Given the description of an element on the screen output the (x, y) to click on. 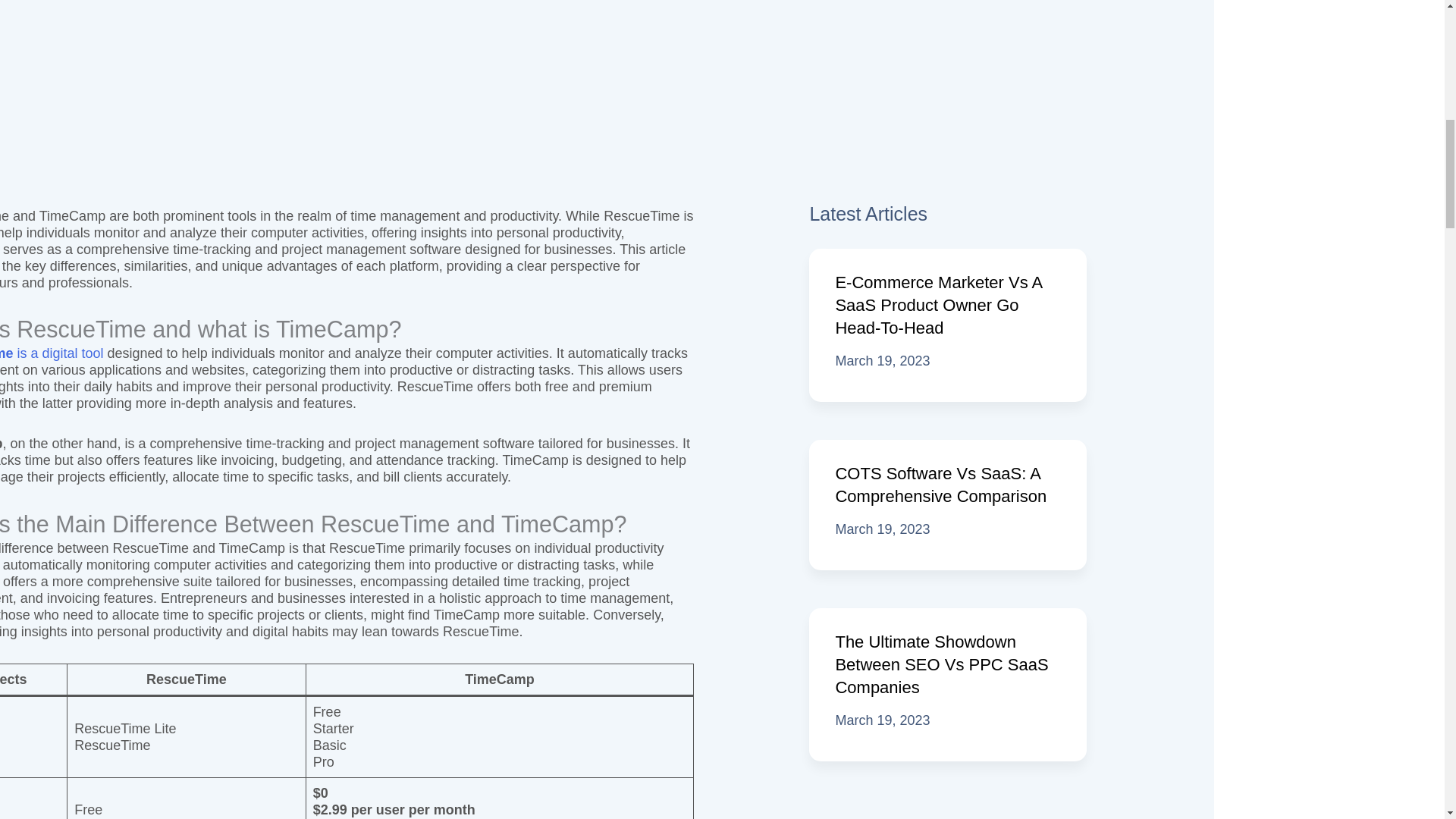
The Ultimate Showdown Between SEO Vs PPC SaaS Companies (941, 664)
E-Commerce Marketer Vs A SaaS Product Owner Go Head-To-Head (938, 304)
COTS Software Vs SaaS: A Comprehensive Comparison (940, 485)
RescueTime is a digital tool (51, 353)
